Given the description of an element on the screen output the (x, y) to click on. 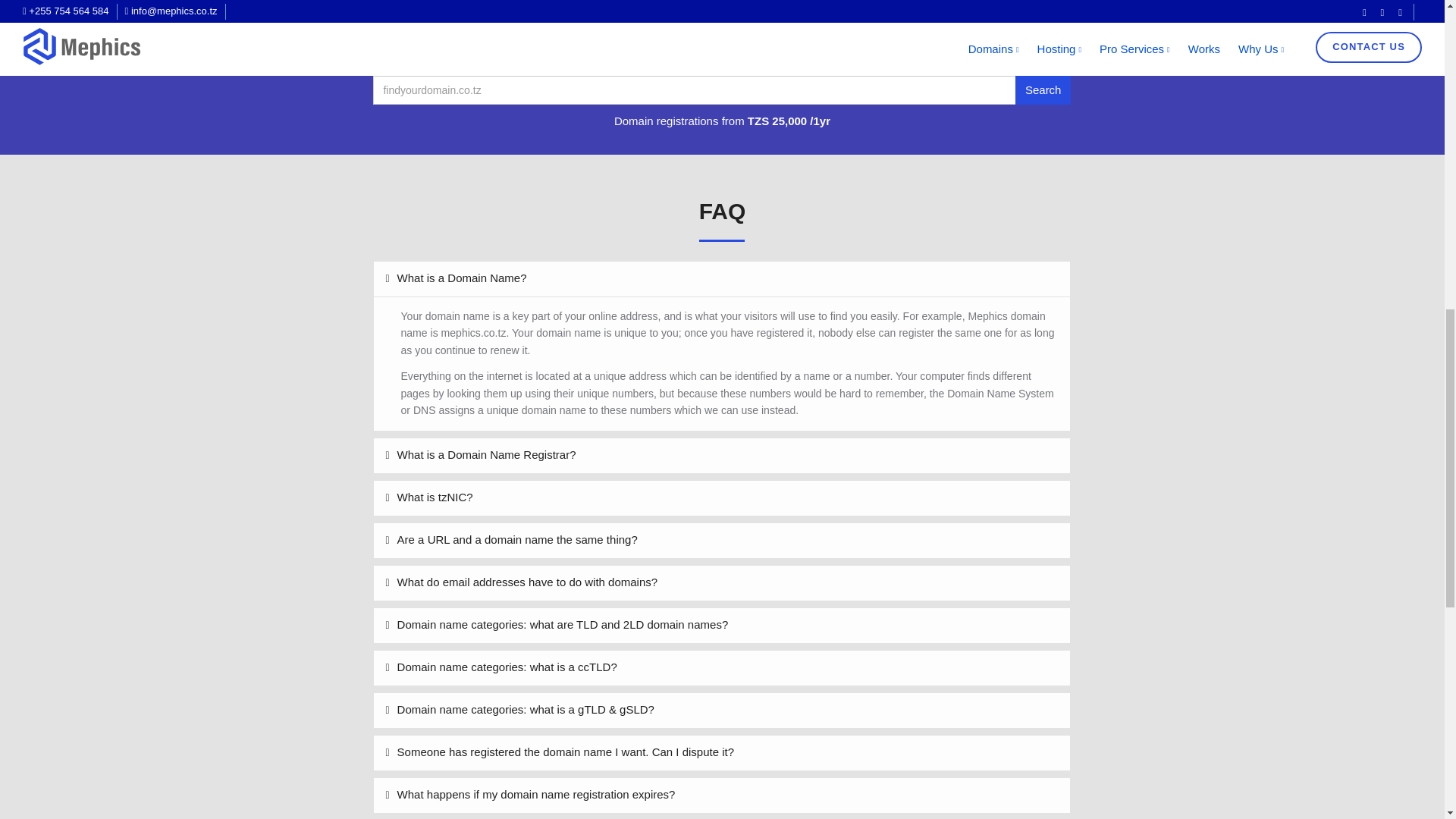
Search (1042, 90)
What is a Domain Name Registrar? (722, 455)
What is a Domain Name? (722, 278)
